Given the description of an element on the screen output the (x, y) to click on. 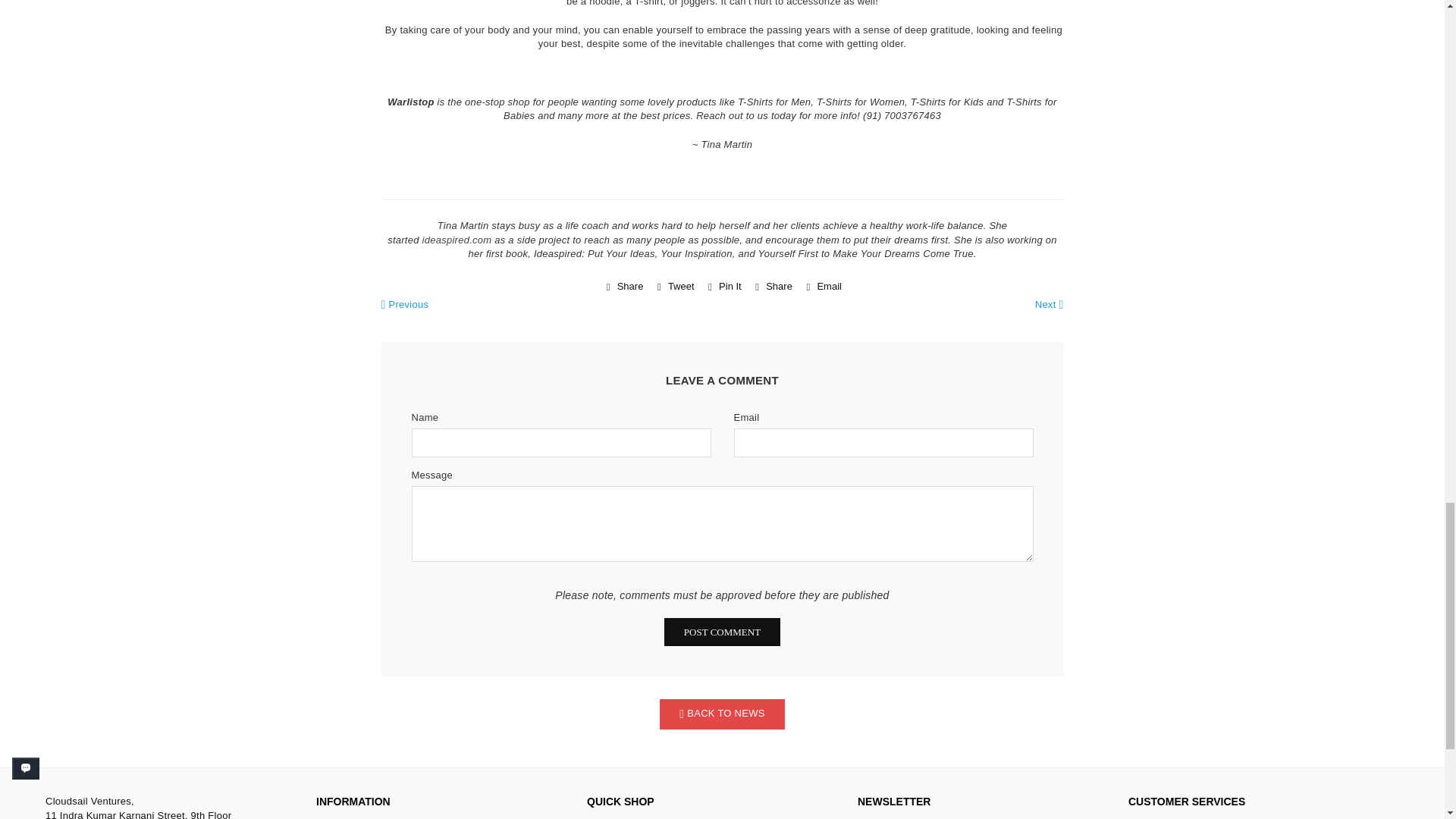
Pin on Pinterest (722, 287)
Share by Email (822, 287)
Share on Linked In (772, 287)
Post comment (721, 632)
Tweet on Twitter (673, 287)
Share on Facebook (622, 287)
